Given the description of an element on the screen output the (x, y) to click on. 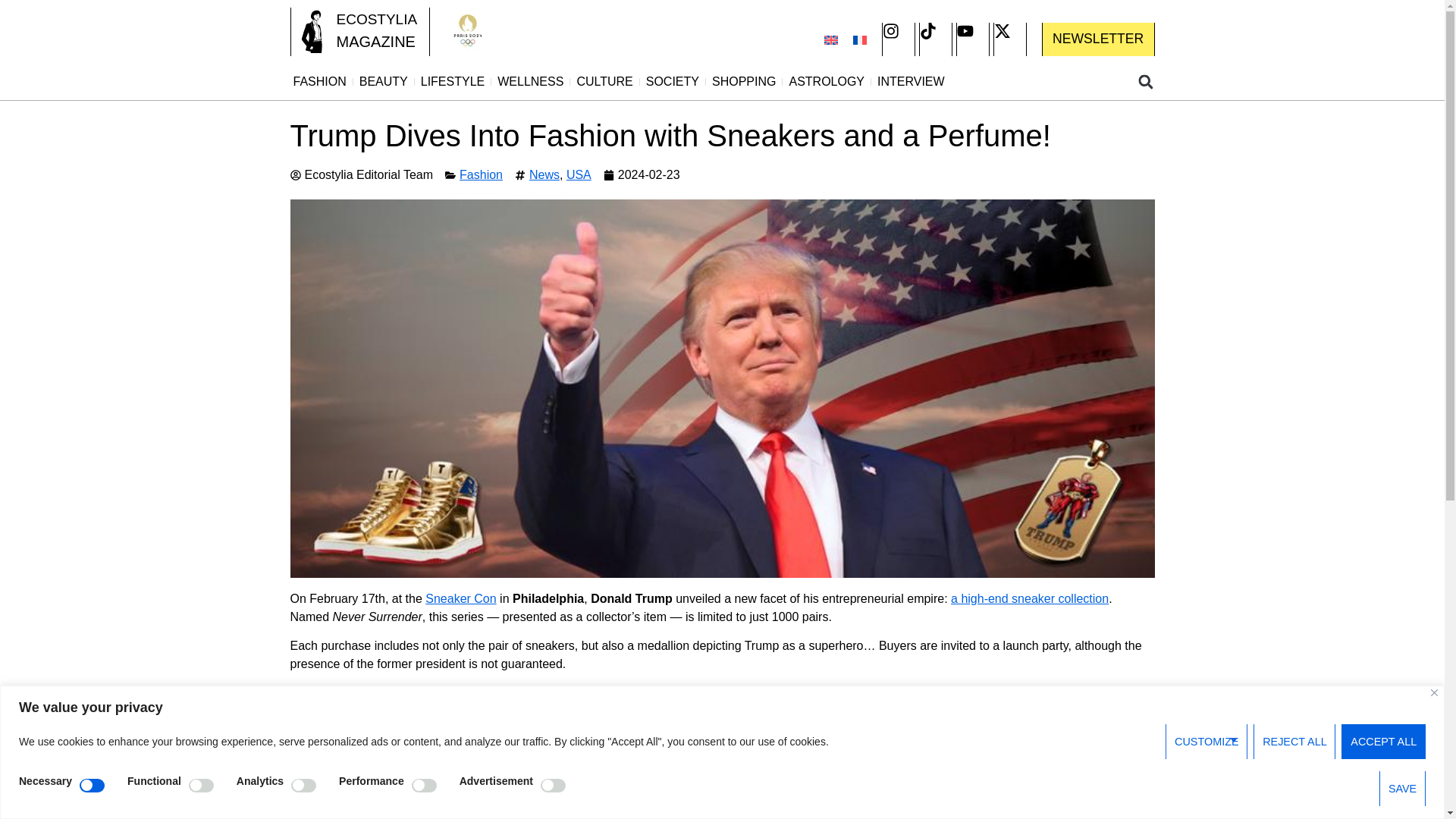
BEAUTY (383, 81)
CUSTOMIZE (1206, 741)
ACCEPT ALL (1382, 741)
on (201, 785)
SAVE (1401, 788)
SHOPPING (743, 81)
ASTROLOGY (826, 81)
on (553, 785)
NEWSLETTER (1098, 39)
CULTURE (603, 81)
